Given the description of an element on the screen output the (x, y) to click on. 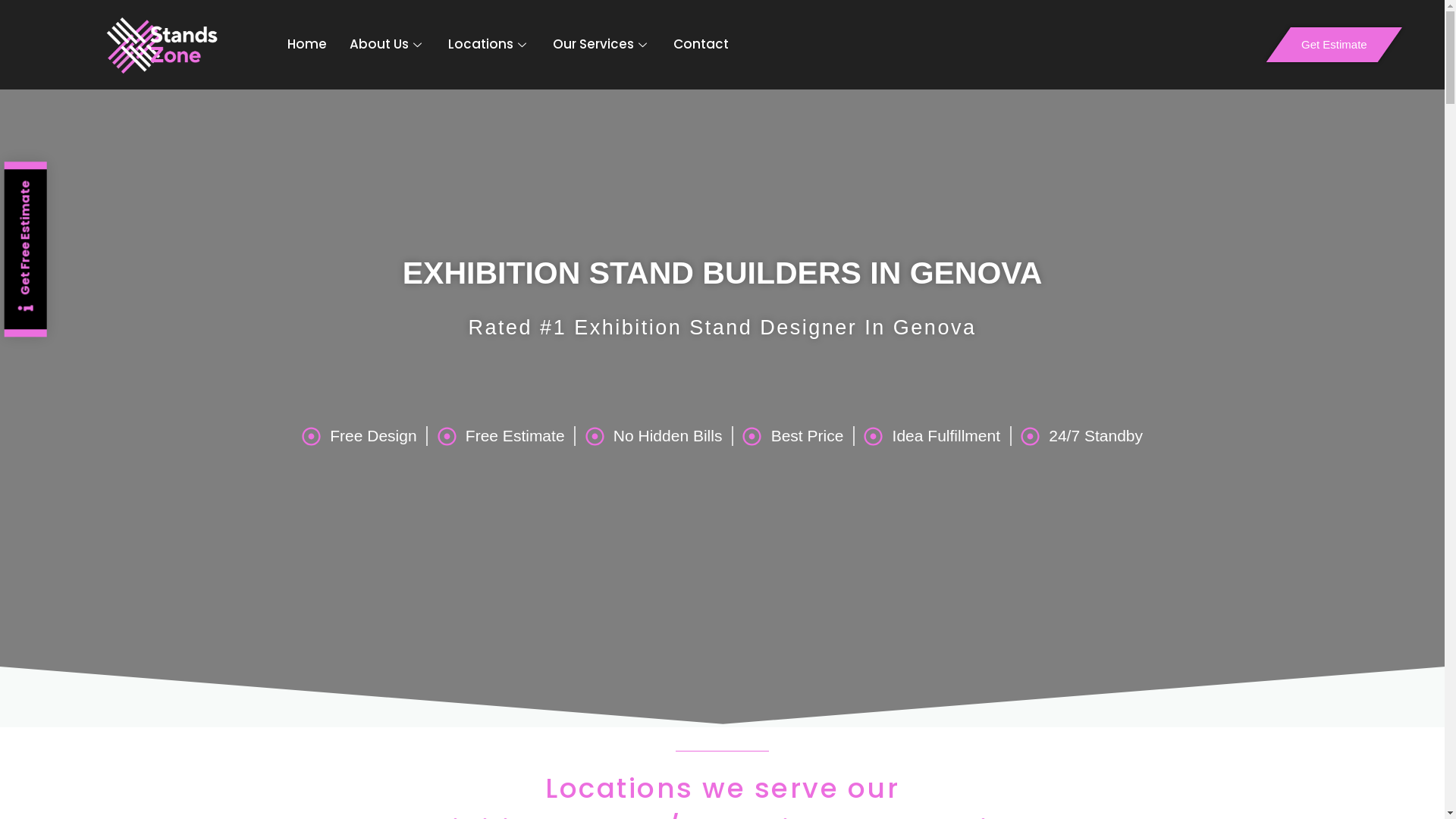
Get Free Estimate Element type: text (84, 190)
About Us Element type: text (387, 44)
Locations Element type: text (488, 44)
Home Element type: text (307, 44)
Contact Element type: text (701, 44)
Get Estimate Element type: text (1321, 44)
Our Services Element type: text (601, 44)
